Given the description of an element on the screen output the (x, y) to click on. 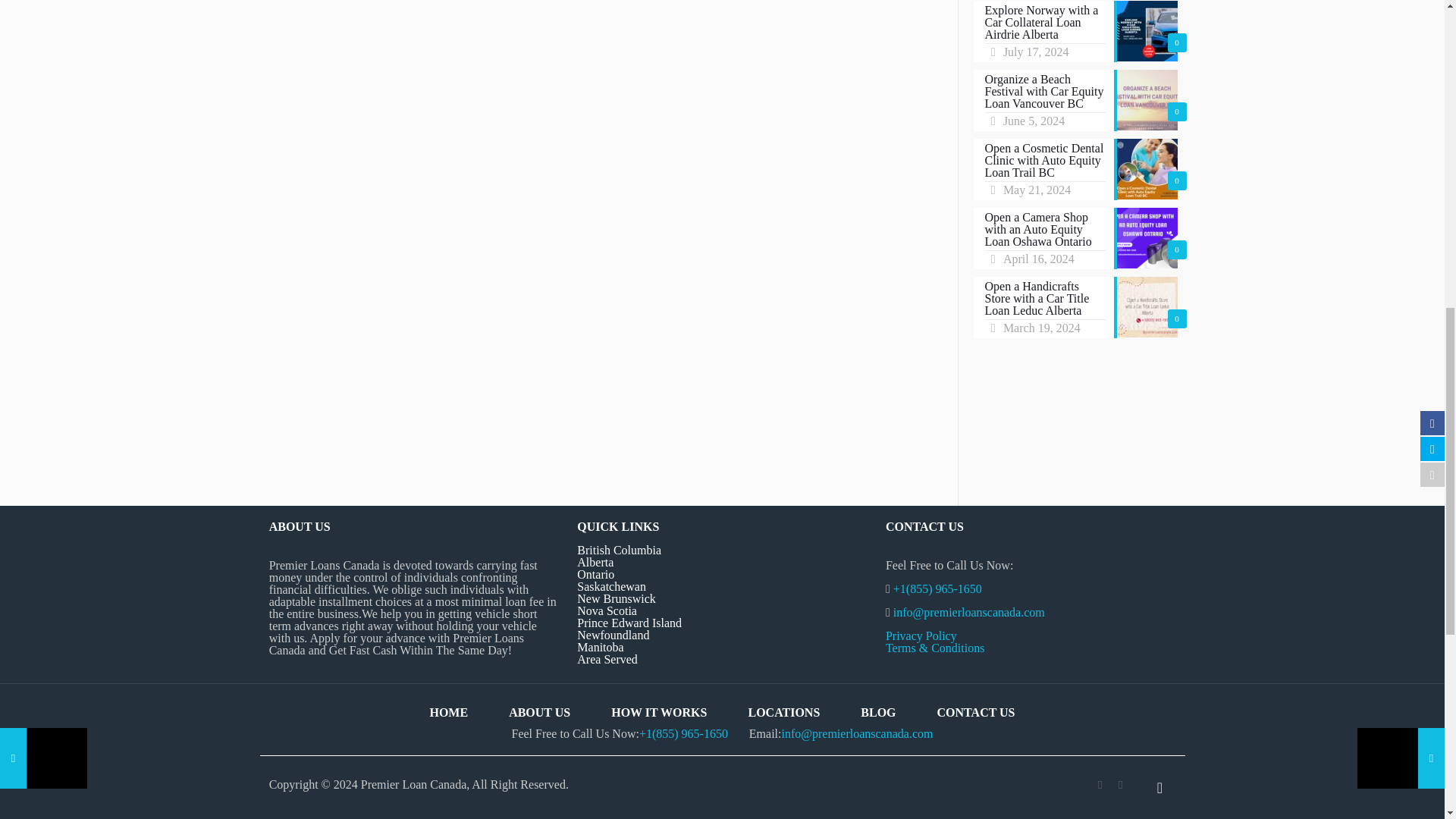
Facebook (1100, 784)
British Columbia (618, 549)
Twitter (1120, 784)
